Given the description of an element on the screen output the (x, y) to click on. 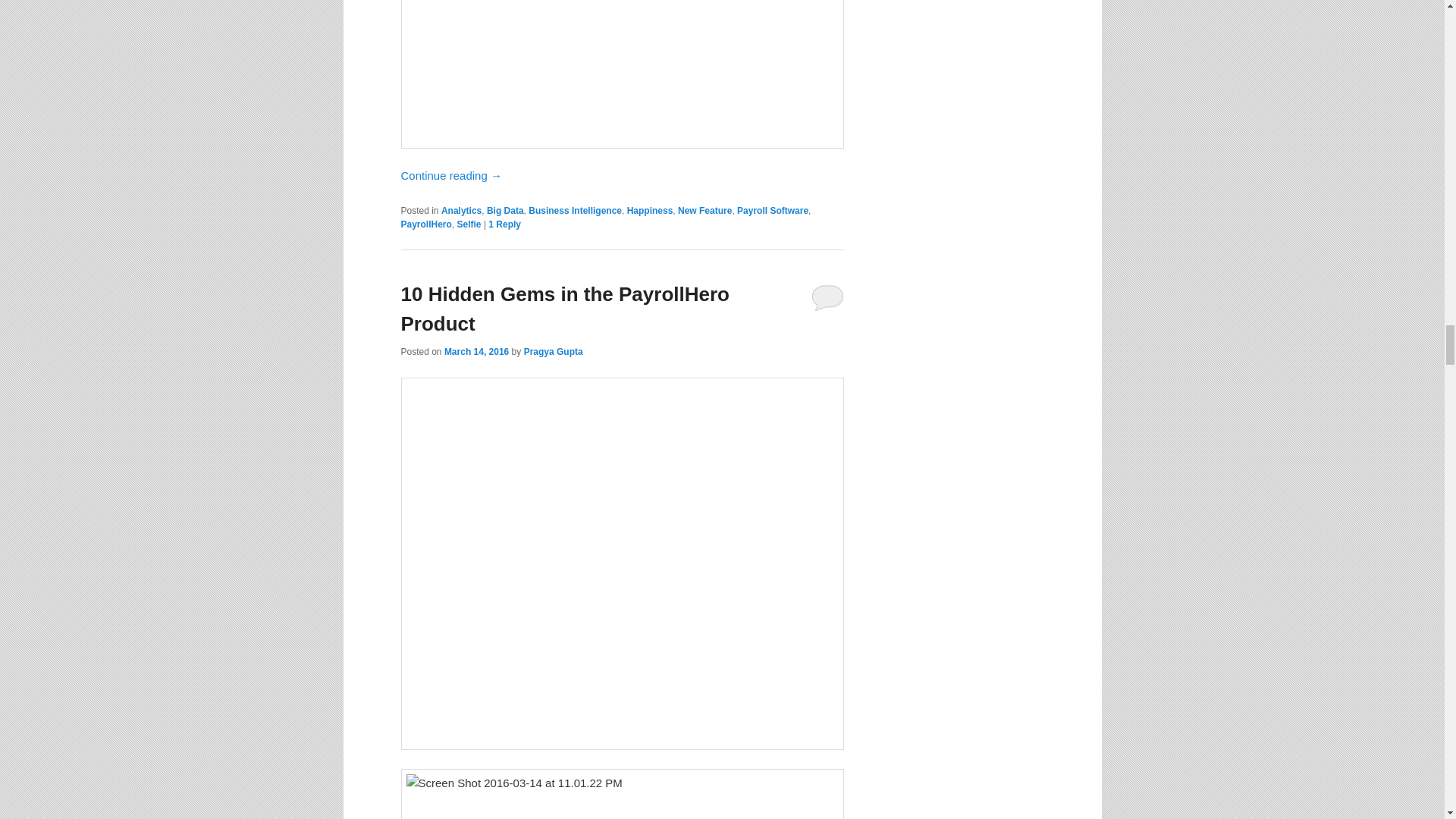
View all posts by Pragya Gupta (553, 351)
11:24 pm (476, 351)
